Given the description of an element on the screen output the (x, y) to click on. 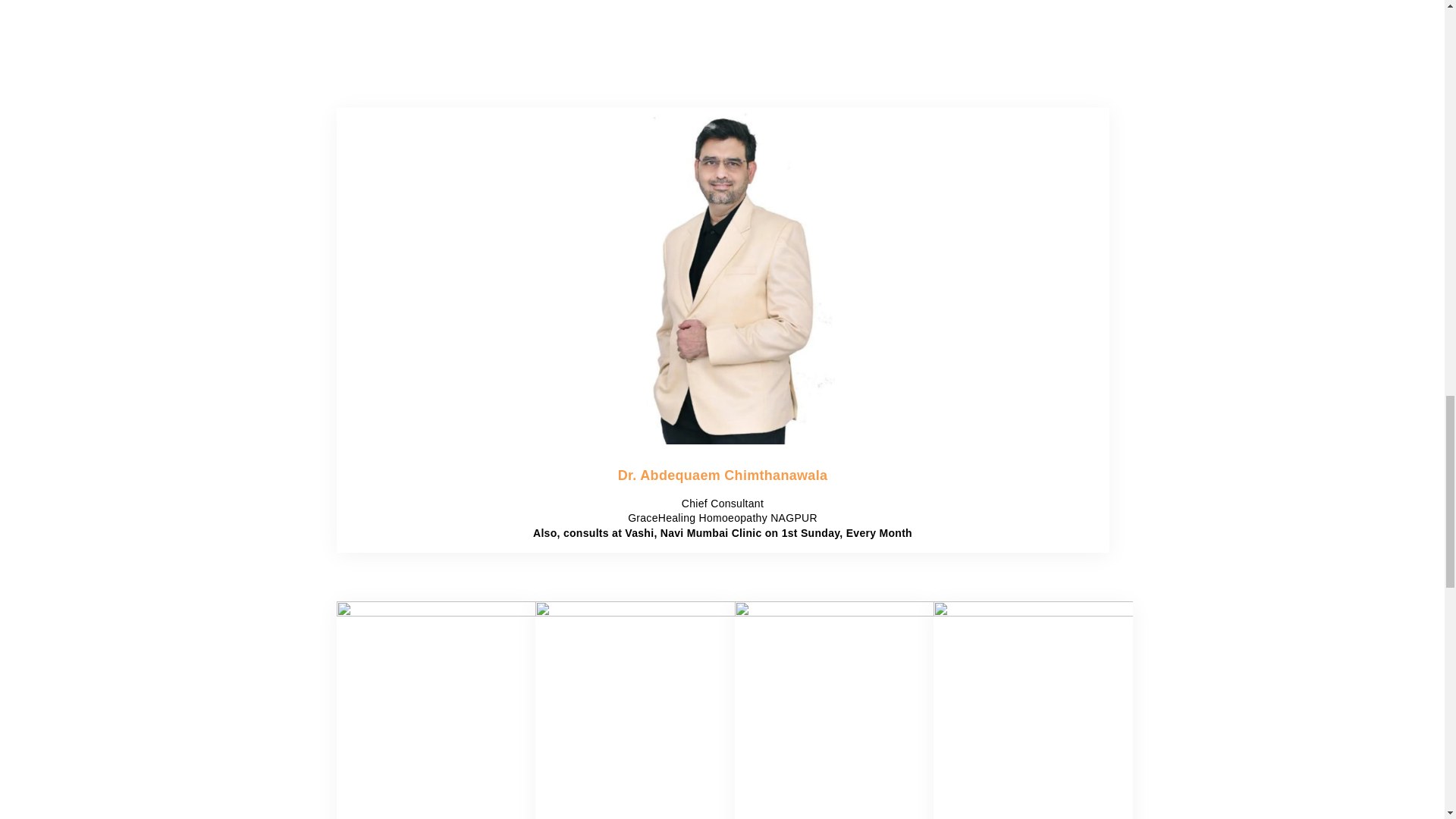
Dr. Abdequaem Chimthanawala (722, 475)
